Given the description of an element on the screen output the (x, y) to click on. 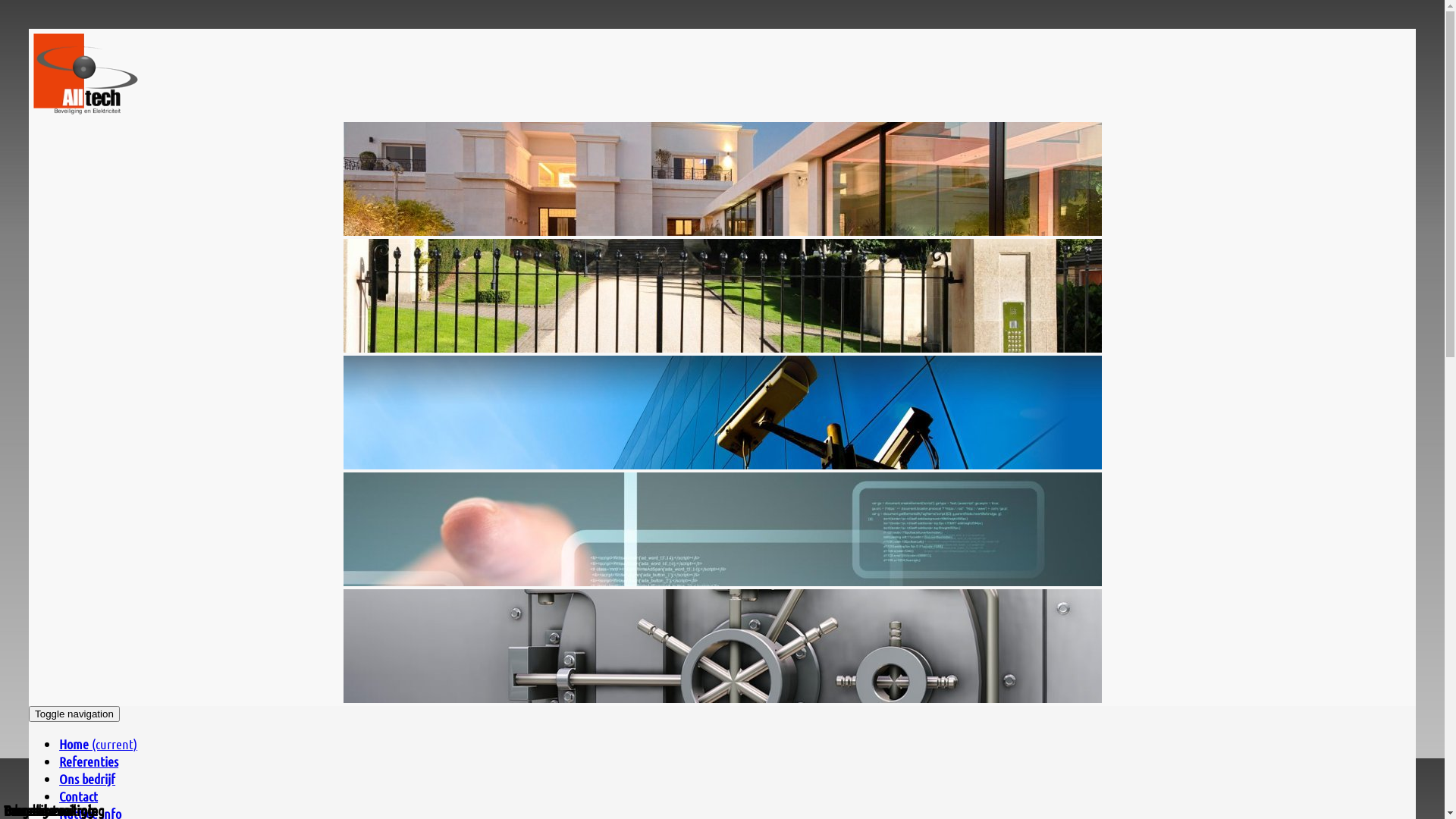
Referenties Element type: text (88, 761)
Toggle navigation Element type: text (73, 713)
Contact Element type: text (78, 795)
Home (current) Element type: text (98, 743)
Ons bedrijf Element type: text (87, 778)
